Given the description of an element on the screen output the (x, y) to click on. 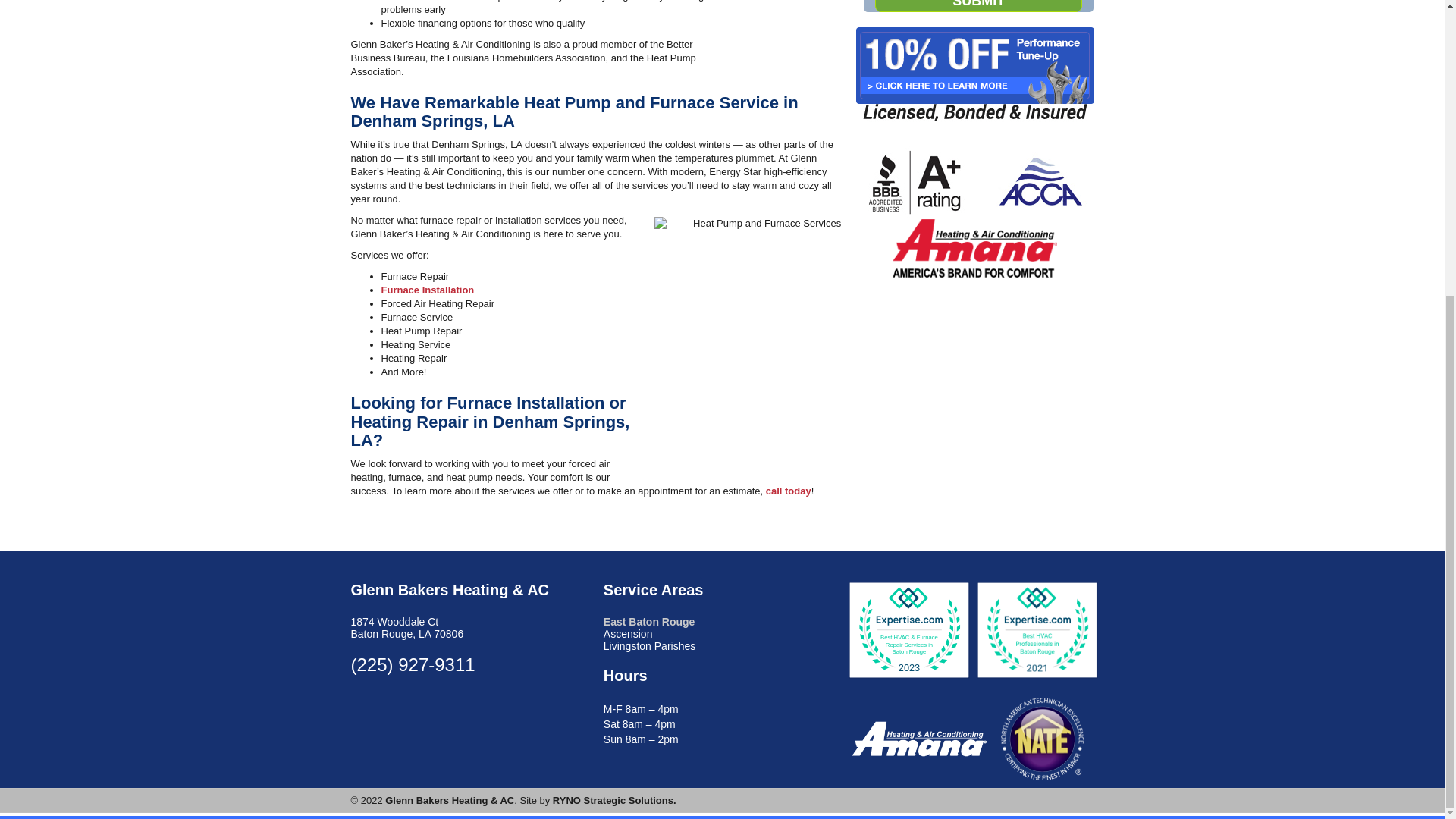
RYNO Strategic Solutions. (615, 799)
Submit (978, 6)
East Baton Rouge (649, 621)
Furnace Installation (427, 289)
Submit (978, 6)
call today (787, 490)
